Given the description of an element on the screen output the (x, y) to click on. 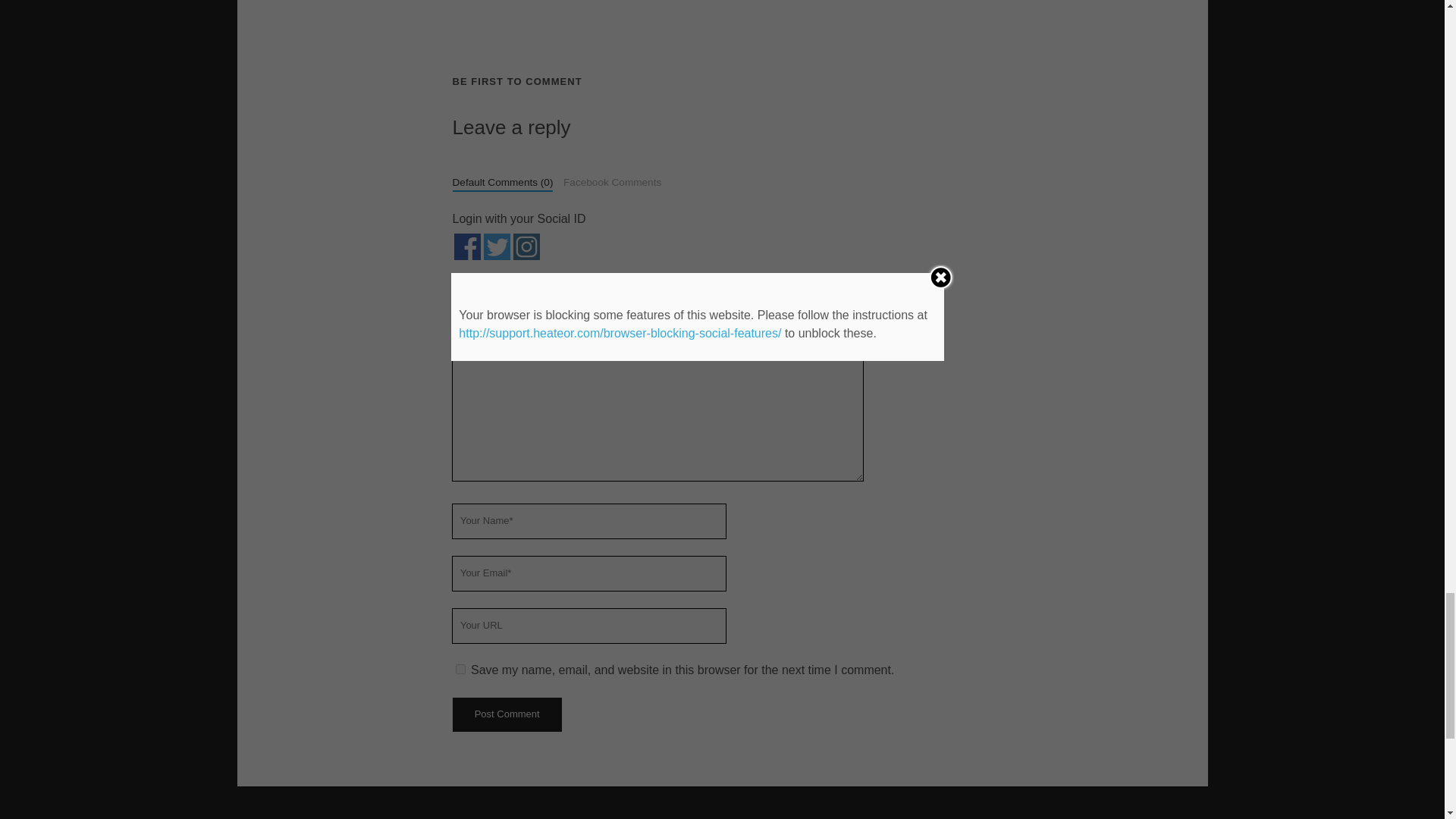
Post Comment (505, 714)
yes (459, 669)
